Given the description of an element on the screen output the (x, y) to click on. 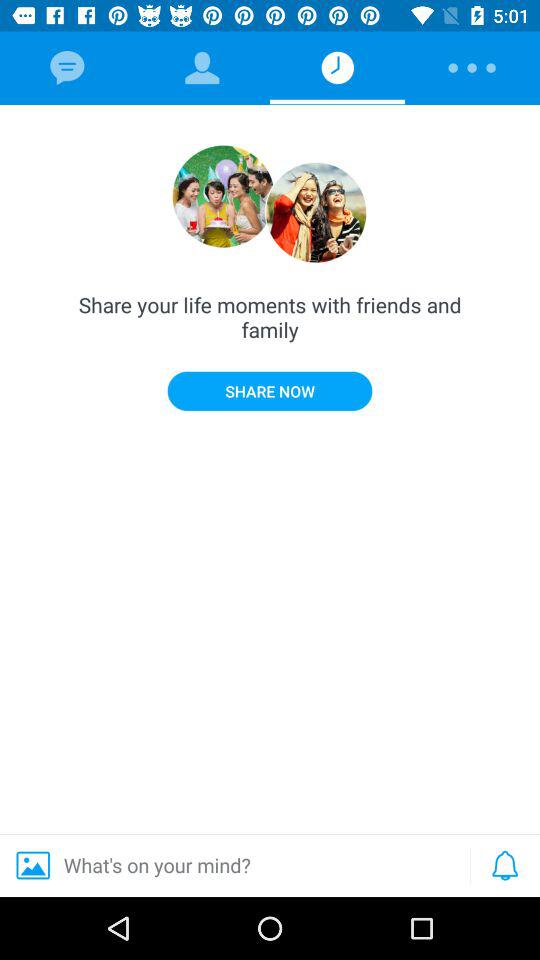
click the share now icon (269, 390)
